Given the description of an element on the screen output the (x, y) to click on. 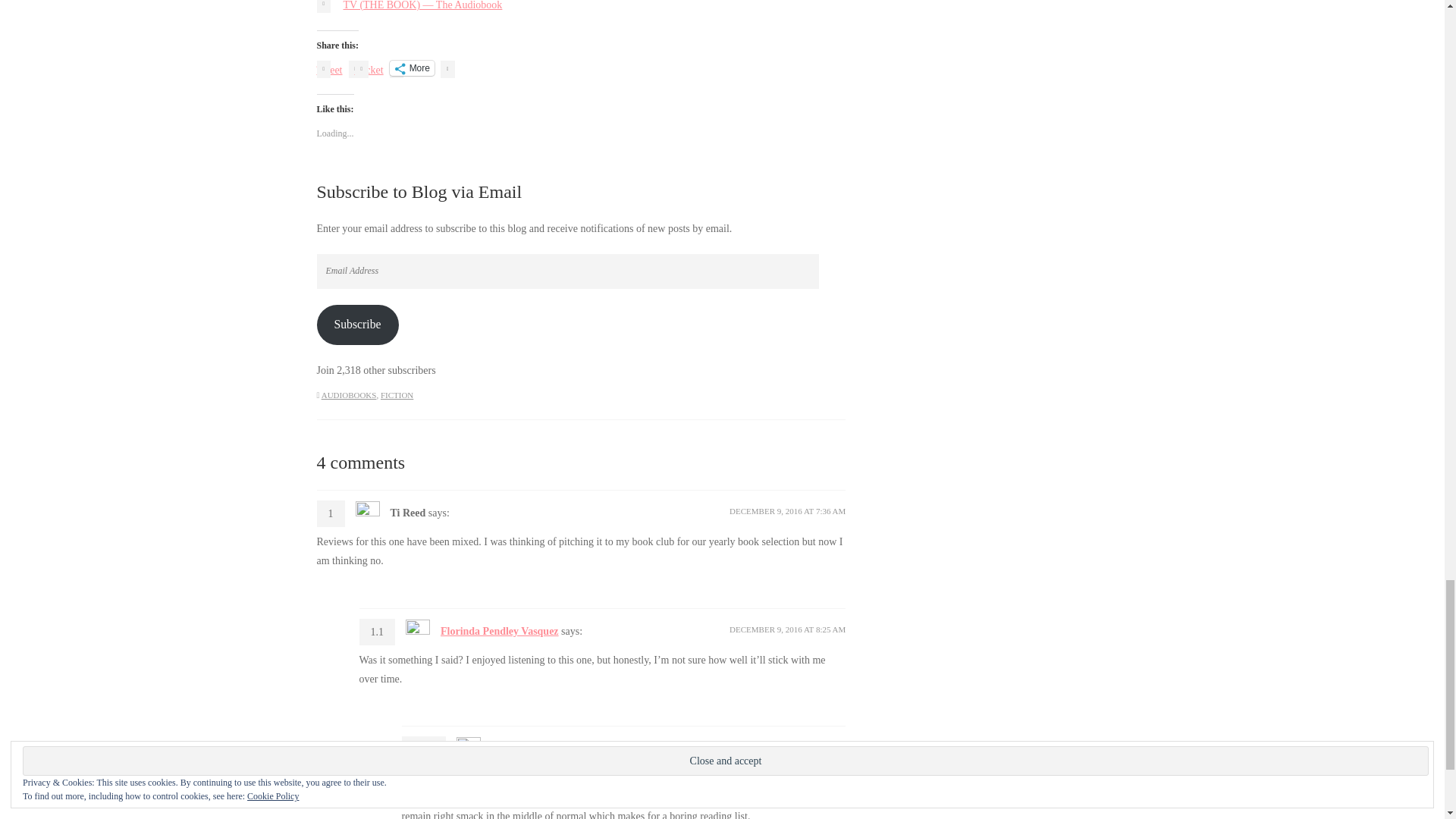
More (411, 68)
Tweet (329, 67)
Pocket (369, 69)
